Given the description of an element on the screen output the (x, y) to click on. 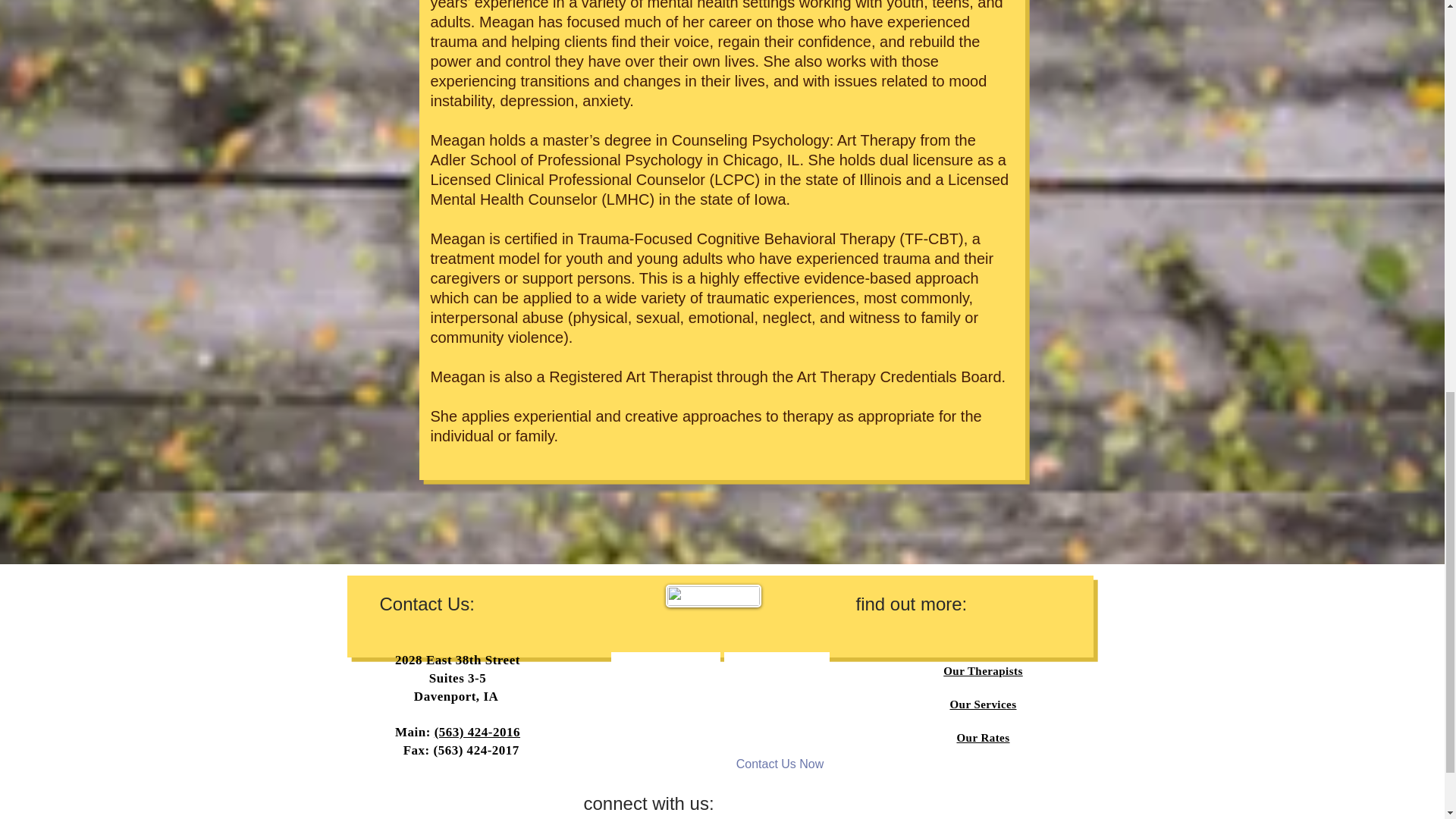
Our Therapists (983, 671)
Our Rates (982, 737)
Our Services (982, 704)
Contact Us Now (779, 764)
